Given the description of an element on the screen output the (x, y) to click on. 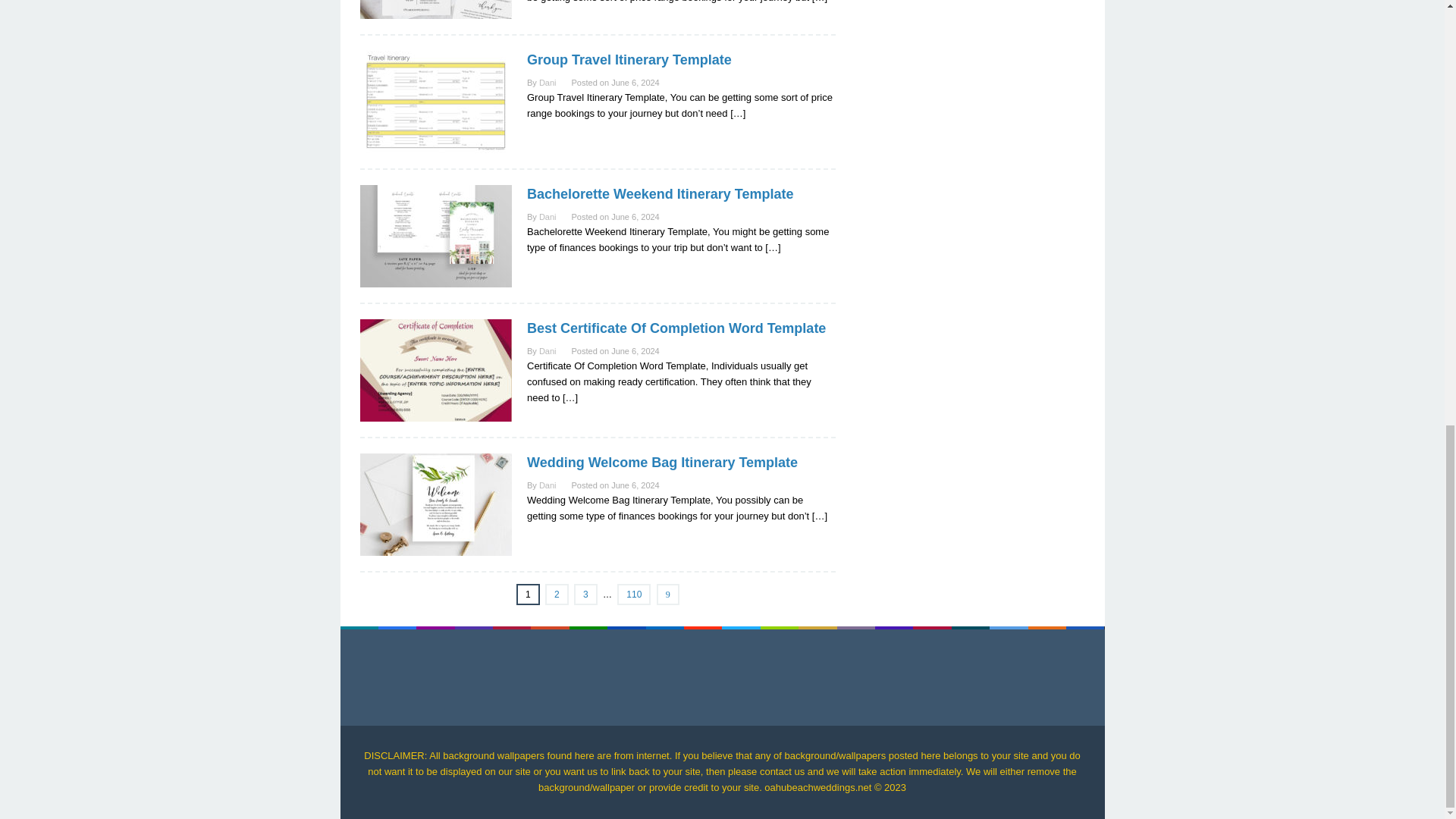
Dani (547, 216)
Bachelorette Weekend Itinerary Template (660, 193)
Dani (547, 350)
Best Certificate Of Completion Word Template (676, 328)
Dani (547, 81)
Group Travel Itinerary Template (629, 59)
